Given the description of an element on the screen output the (x, y) to click on. 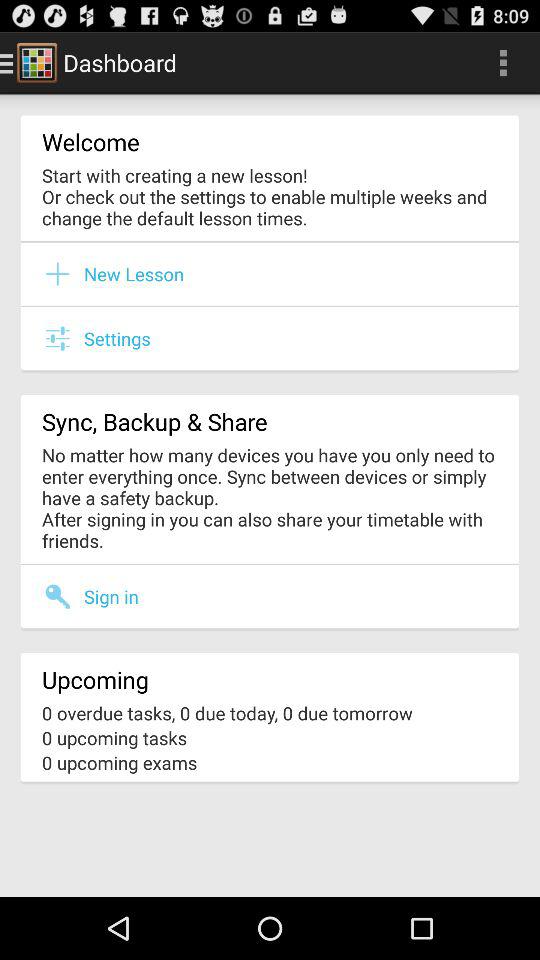
turn on the item below the no matter how item (270, 564)
